Given the description of an element on the screen output the (x, y) to click on. 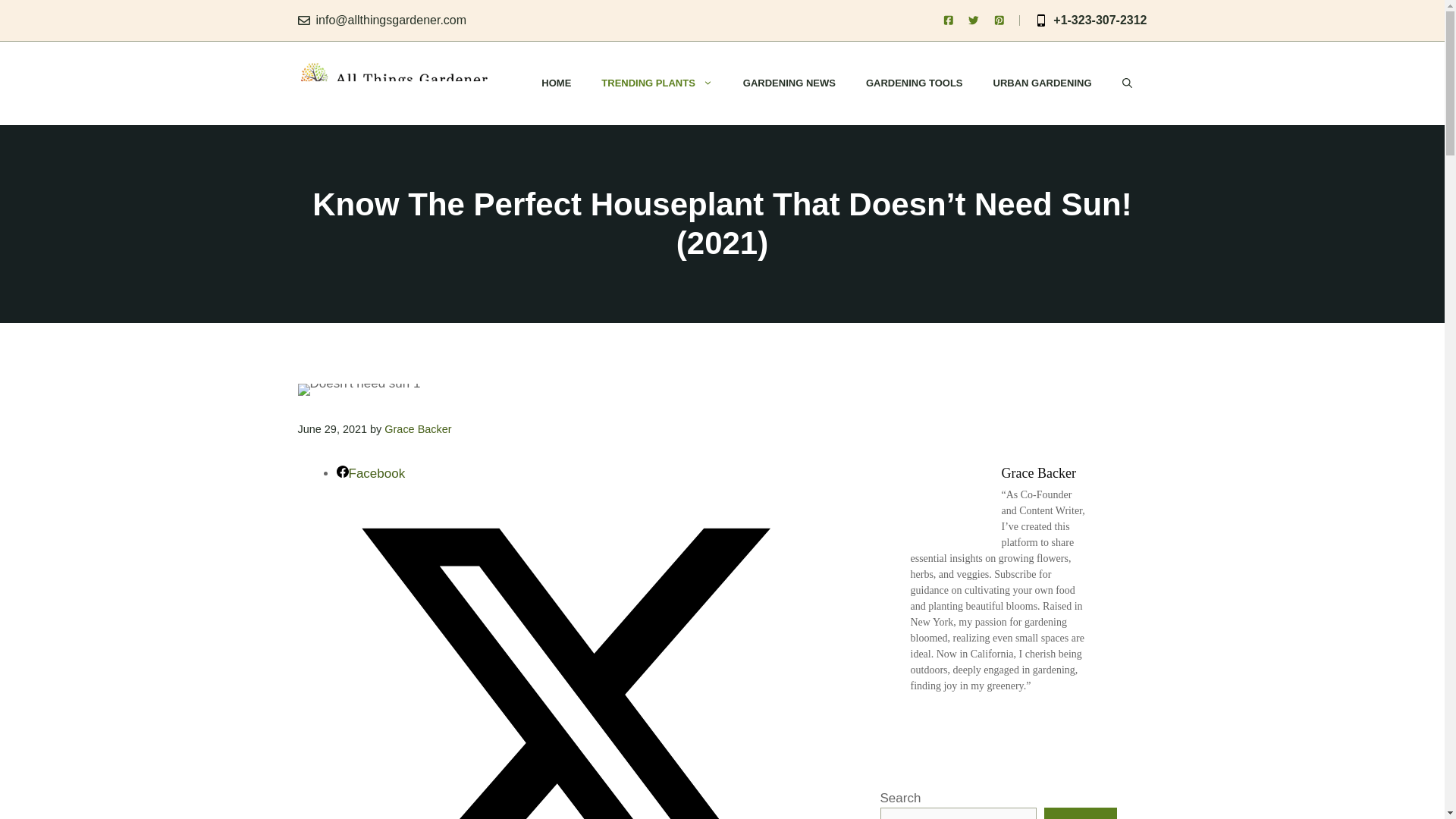
Facebook (371, 473)
TRENDING PLANTS (657, 83)
View all posts by Grace Backer (417, 428)
GARDENING TOOLS (914, 83)
Share on Facebook (371, 473)
GARDENING NEWS (789, 83)
Grace Backer (417, 428)
HOME (555, 83)
URBAN GARDENING (1042, 83)
